Given the description of an element on the screen output the (x, y) to click on. 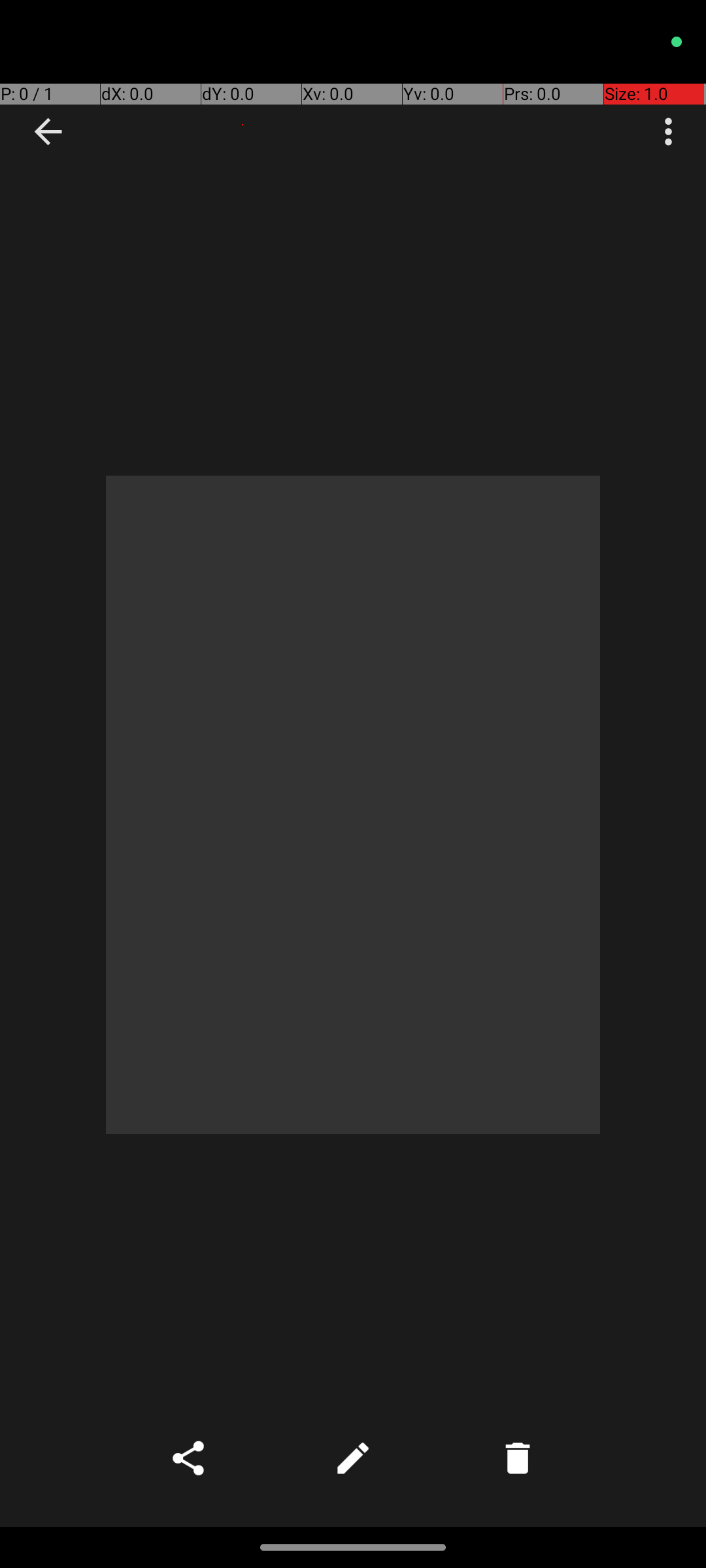
Edit Element type: android.widget.ImageButton (352, 1458)
Delete Element type: android.widget.ImageButton (517, 1458)
Photo taken on Oct 15, 2023 15:34:14 Element type: android.widget.ImageView (352, 804)
